Given the description of an element on the screen output the (x, y) to click on. 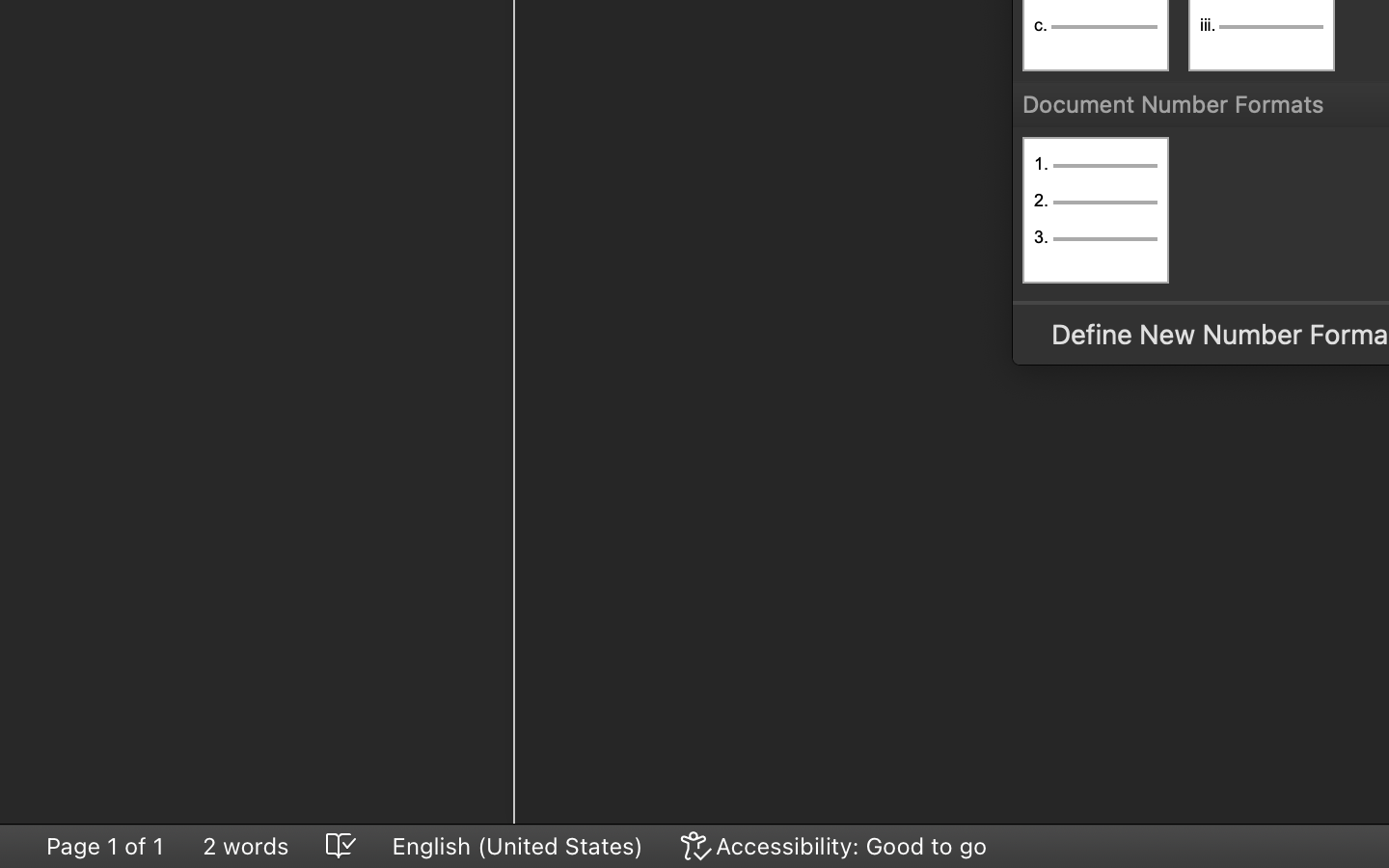
0 Element type: AXRadioButton (1095, 210)
0 Element type: AXCheckBox (835, 845)
